Given the description of an element on the screen output the (x, y) to click on. 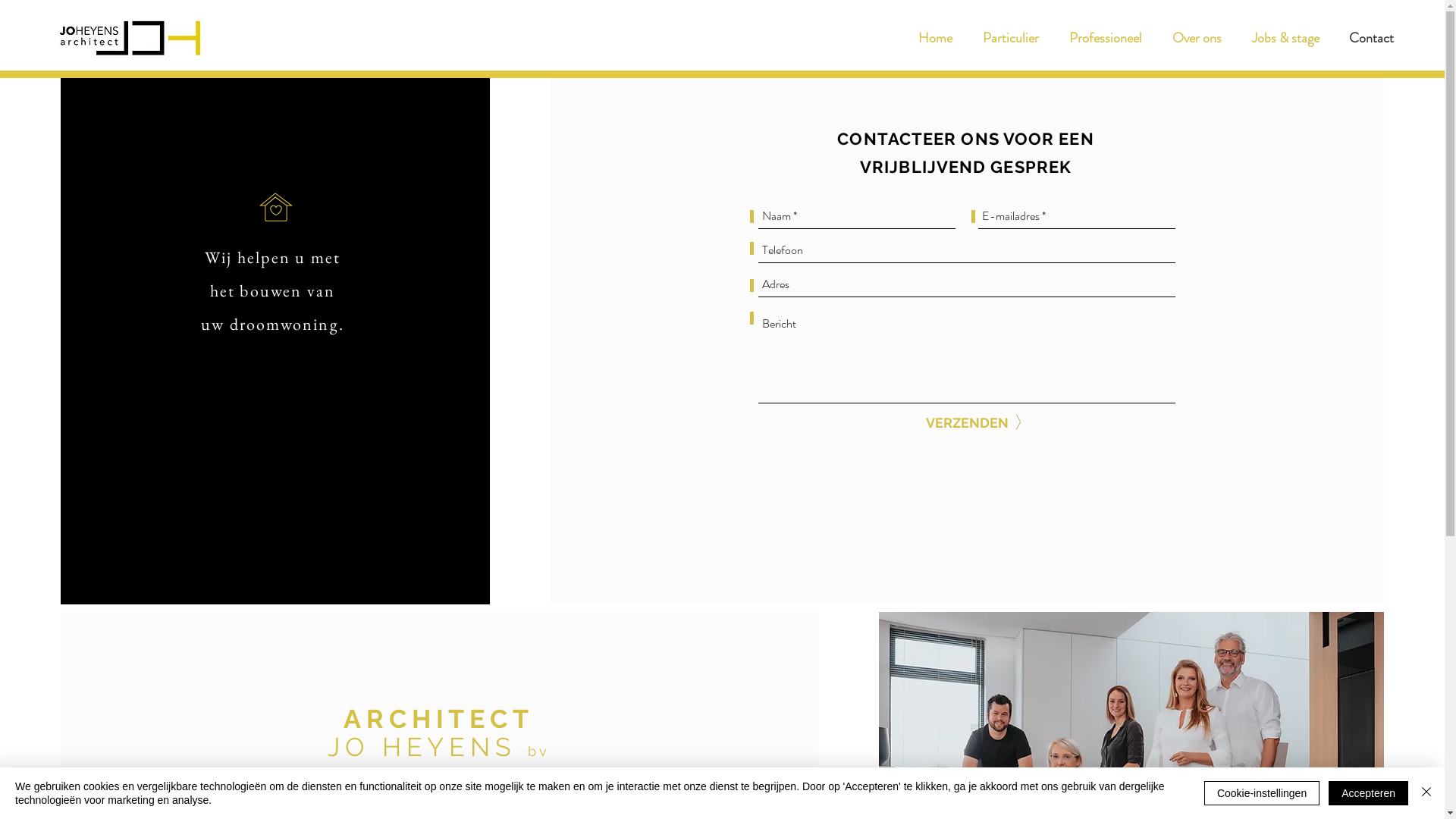
Contact Element type: text (1370, 37)
Professioneel Element type: text (1105, 37)
Particulier Element type: text (1010, 37)
VERZENDEN Element type: text (966, 422)
Accepteren Element type: text (1368, 793)
Cookie-instellingen Element type: text (1261, 793)
logo joheyens architect - naar home Element type: hover (131, 37)
Over ons Element type: text (1196, 37)
Jobs & stage Element type: text (1284, 37)
Home Element type: text (935, 37)
